Given the description of an element on the screen output the (x, y) to click on. 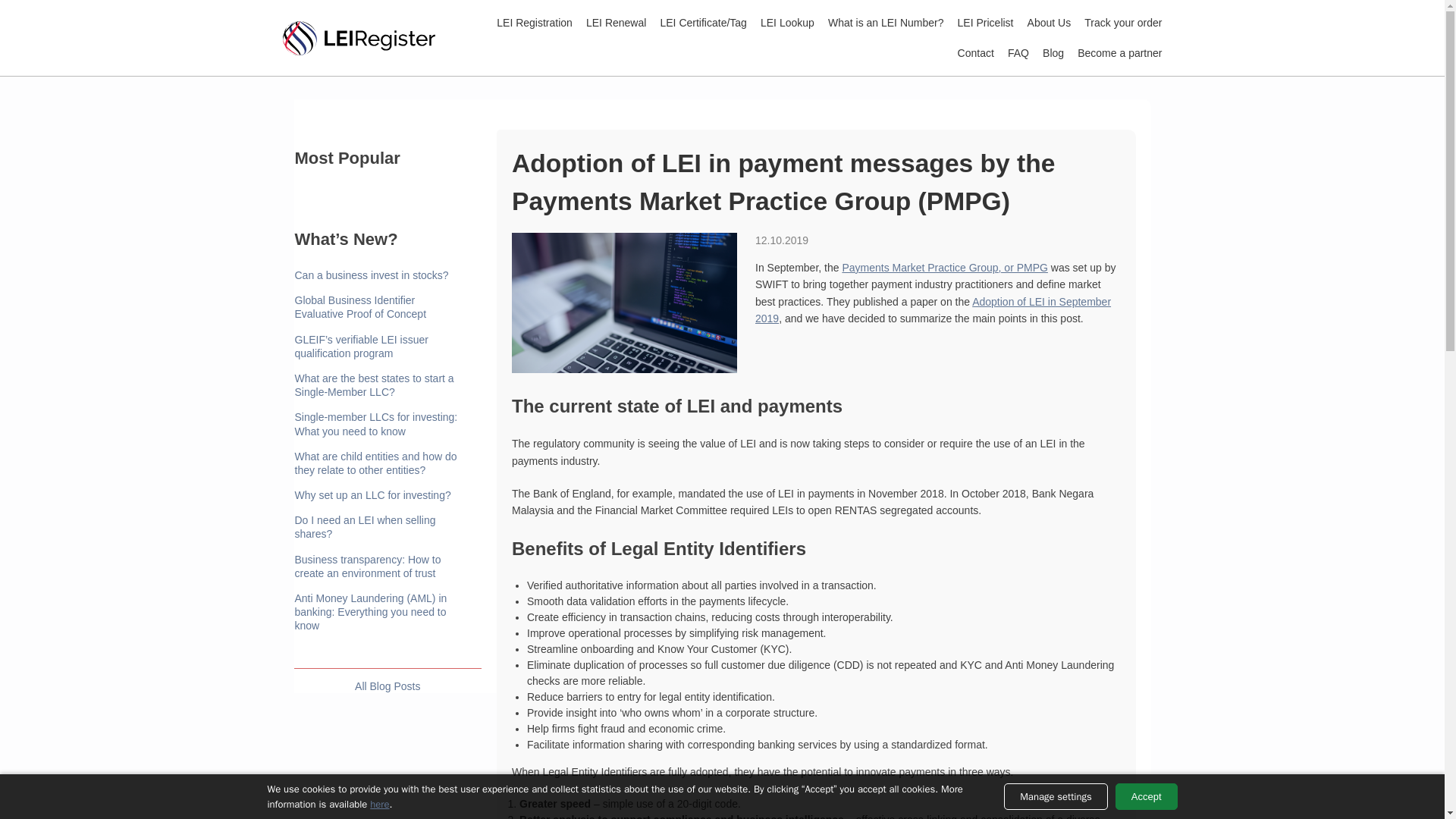
Why set up an LLC for investing? (379, 495)
LEI Pricelist (985, 22)
Do I need an LEI when selling shares? (379, 526)
here (378, 803)
About Us (1049, 22)
Adoption of LEI in September 2019 (932, 309)
LEI Register (362, 38)
Payments Market Practice Group, or PMPG (944, 267)
Accept (1146, 795)
